Given the description of an element on the screen output the (x, y) to click on. 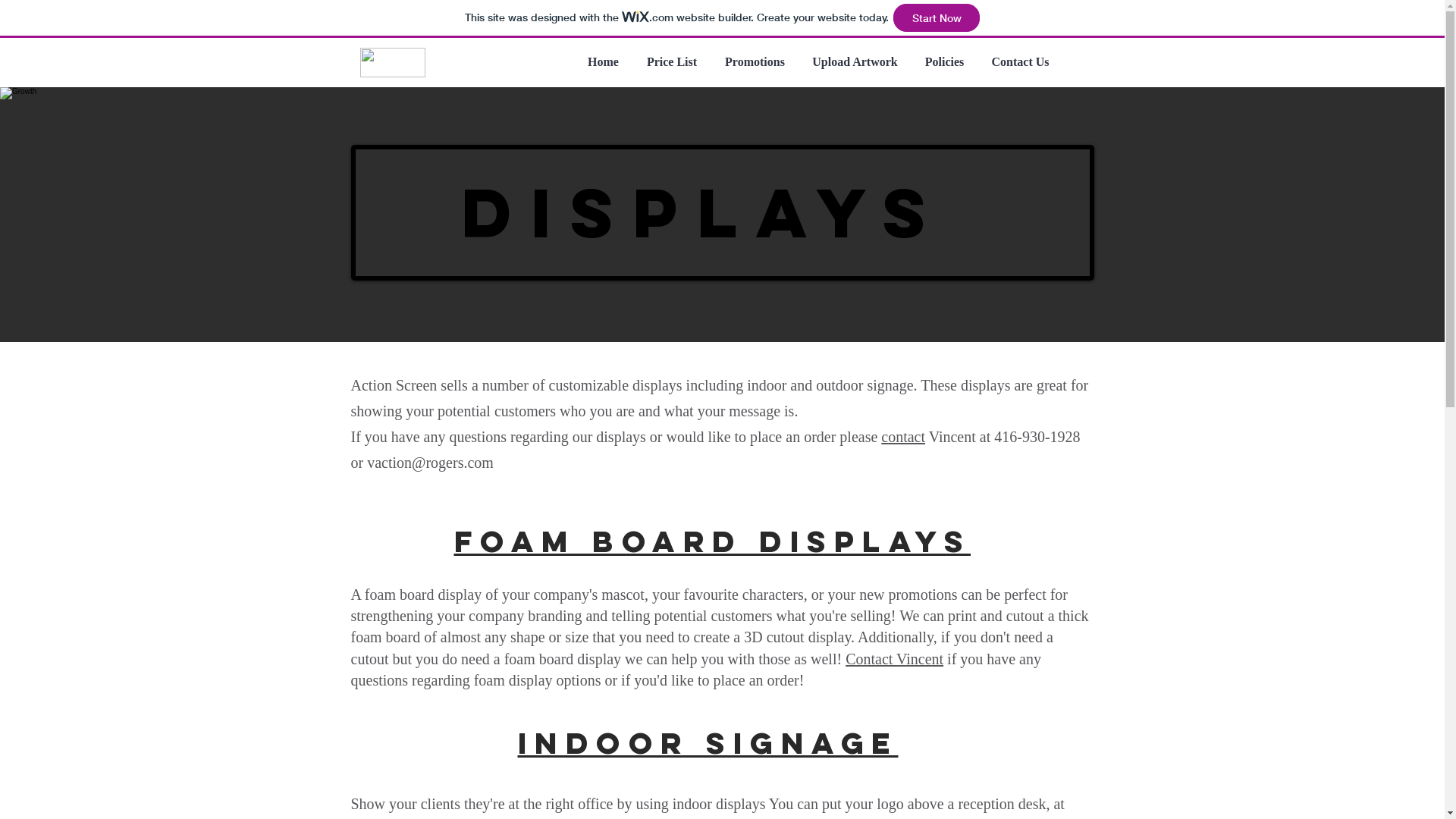
Promotions Element type: text (755, 62)
Upload Artwork Element type: text (855, 62)
Contact Vincent Element type: text (894, 658)
vaction@rogers.com Element type: text (430, 462)
Price List Element type: text (671, 62)
Home Element type: text (602, 62)
Action Screen transparent Logo.png Element type: hover (391, 62)
Contact Us Element type: text (1020, 62)
contact Element type: text (903, 436)
Policies Element type: text (944, 62)
